Given the description of an element on the screen output the (x, y) to click on. 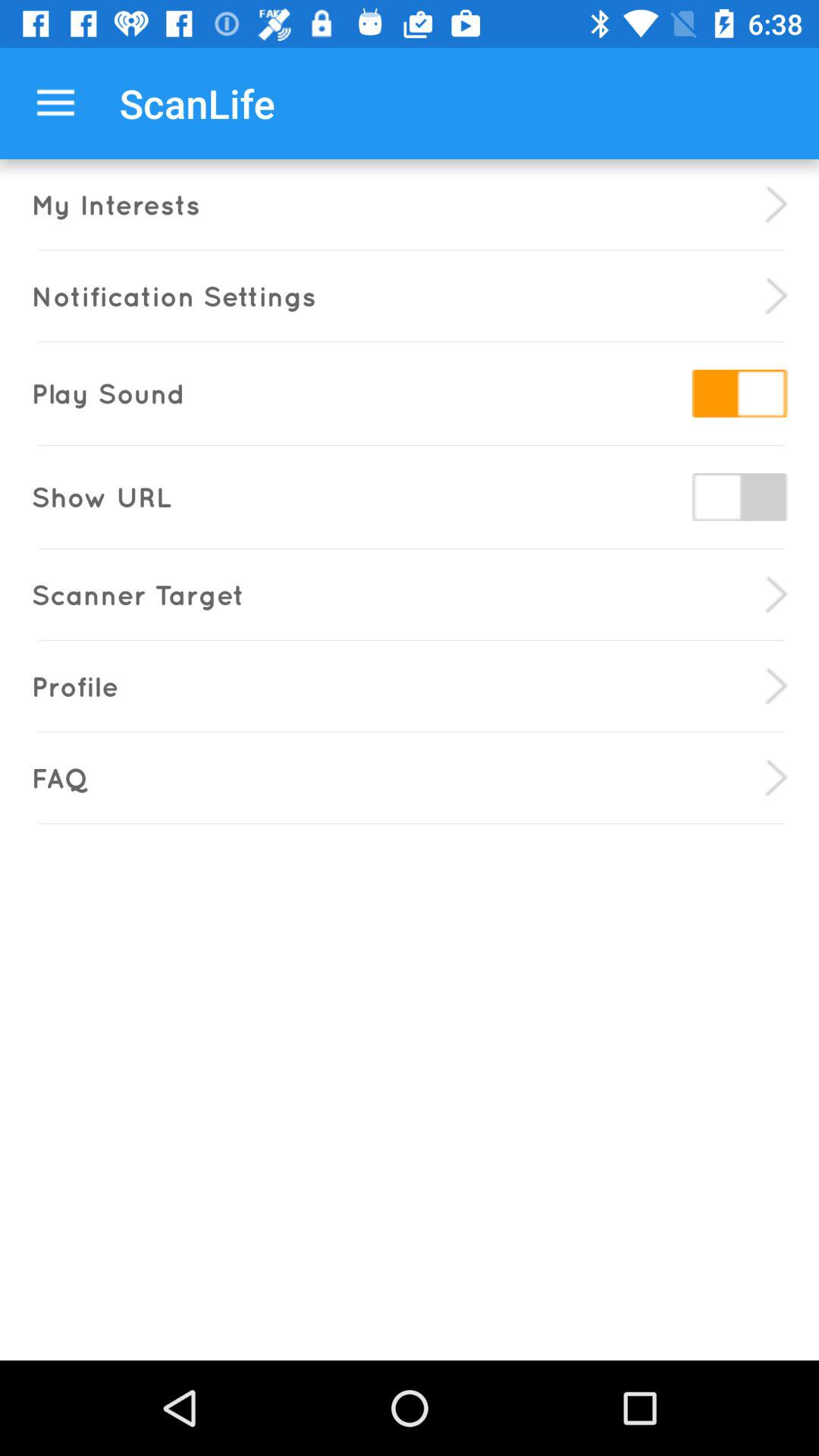
switch button to turn off sound (739, 393)
